Given the description of an element on the screen output the (x, y) to click on. 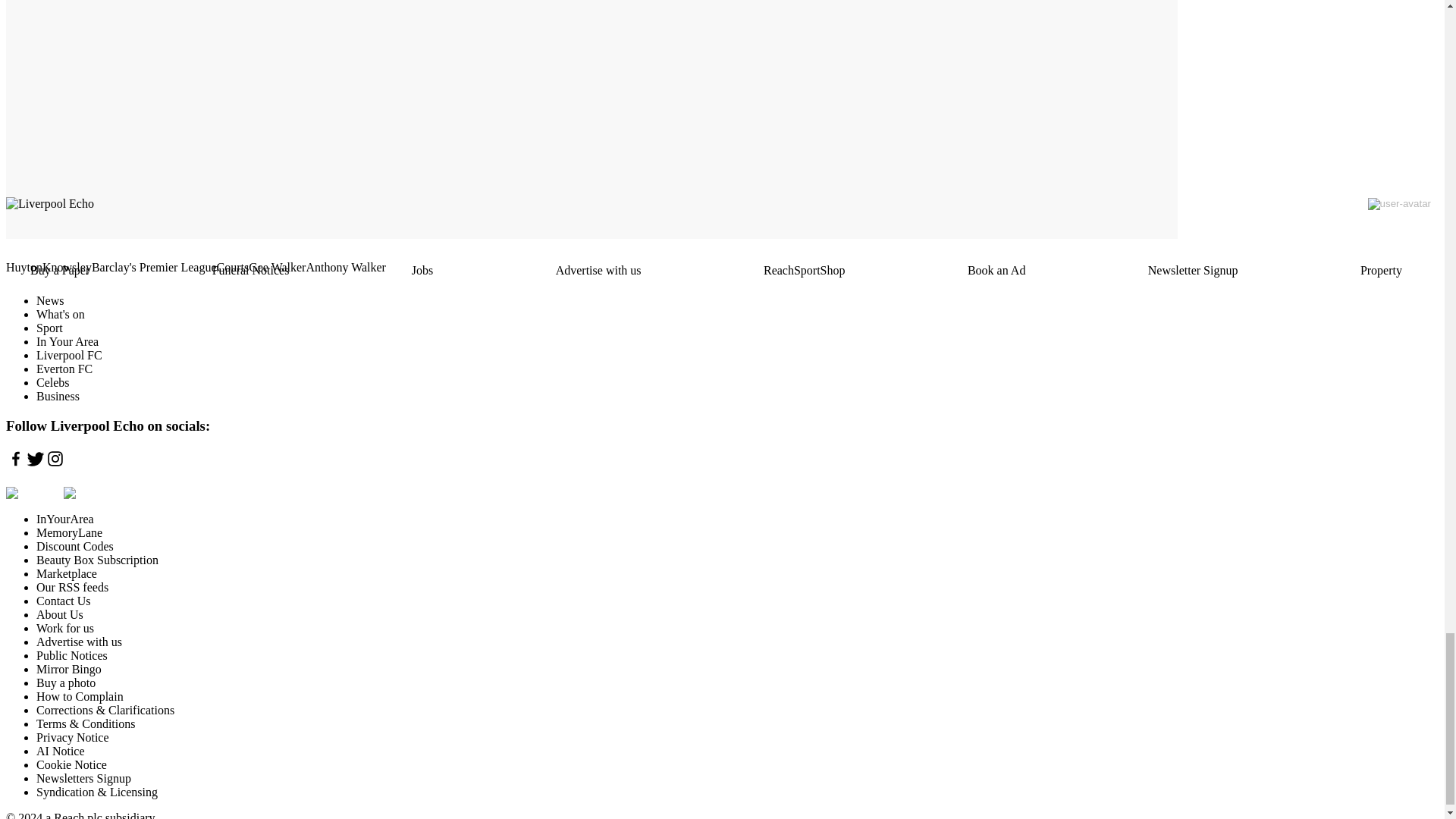
Barclay's Premier League (153, 267)
Huyton (23, 267)
Courts (231, 267)
Knowsley (66, 267)
